Given the description of an element on the screen output the (x, y) to click on. 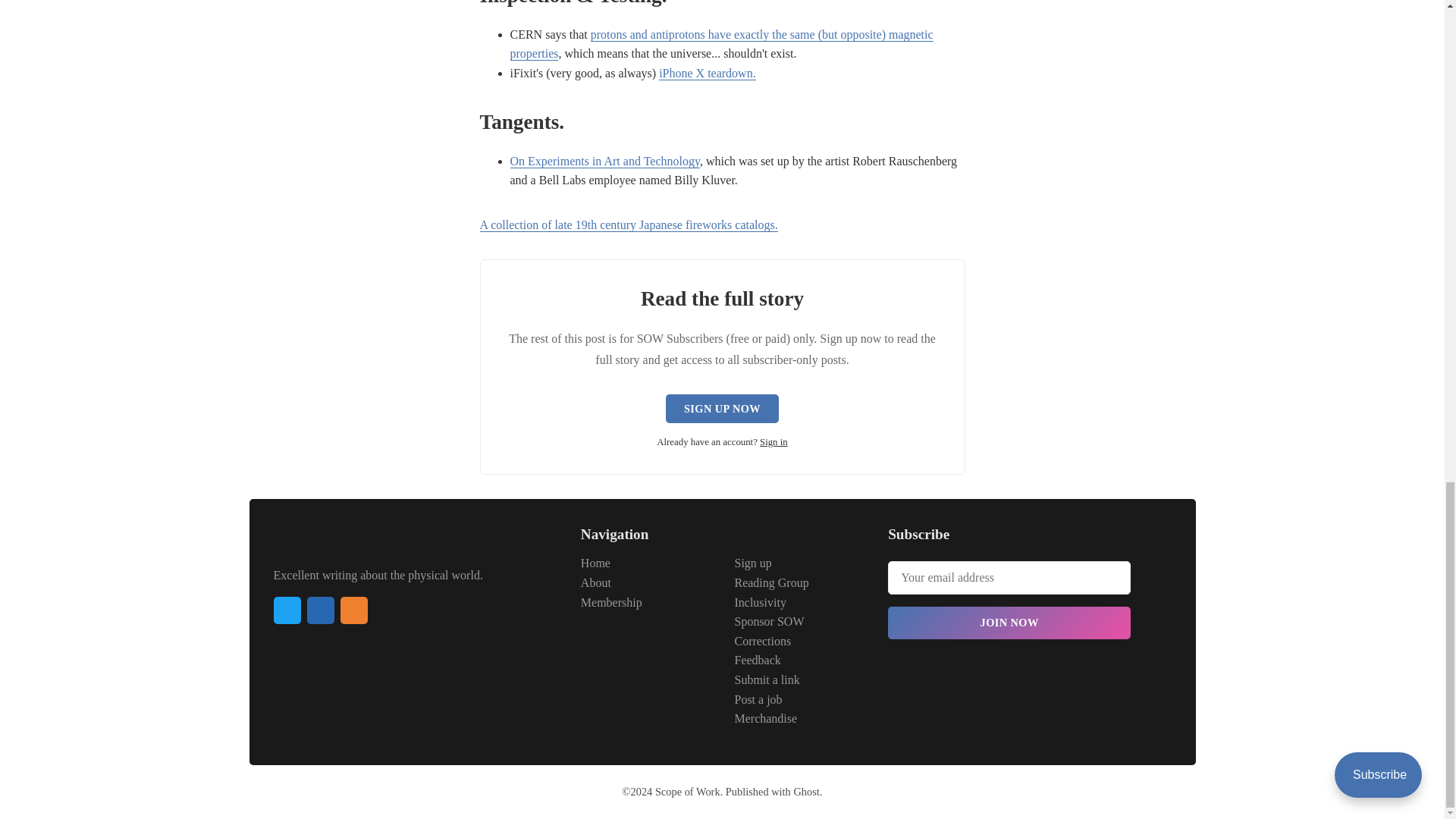
Linkedin (319, 610)
RSS (352, 610)
Twitter (286, 610)
